Given the description of an element on the screen output the (x, y) to click on. 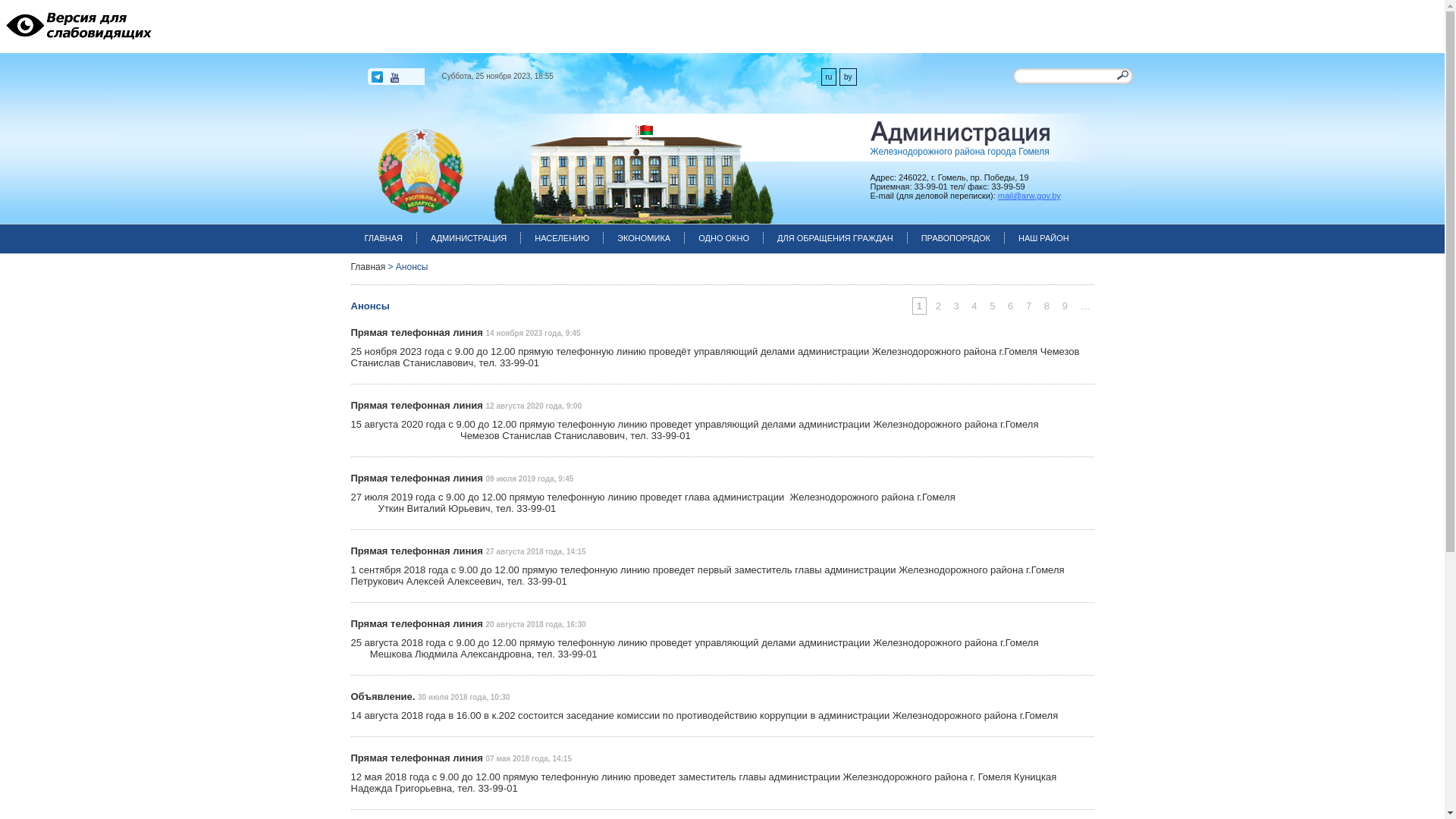
2 Element type: text (938, 305)
3 Element type: text (955, 305)
5 Element type: text (991, 305)
9 Element type: text (1064, 305)
by Element type: text (847, 76)
4 Element type: text (973, 305)
7 Element type: text (1028, 305)
6 Element type: text (1010, 305)
ru Element type: text (828, 76)
mail@arw.gov.by Element type: text (1028, 195)
8 Element type: text (1046, 305)
